Given the description of an element on the screen output the (x, y) to click on. 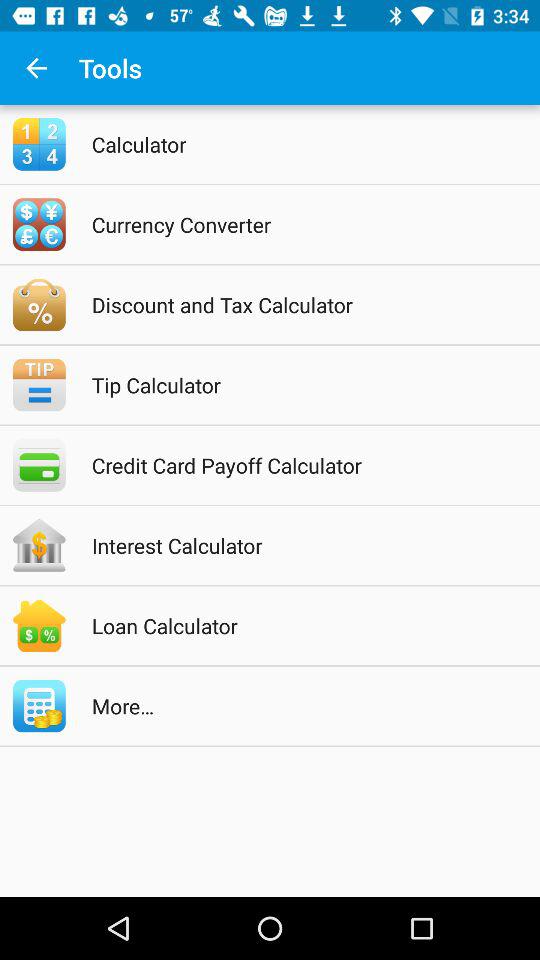
press the credit card payoff (295, 465)
